Given the description of an element on the screen output the (x, y) to click on. 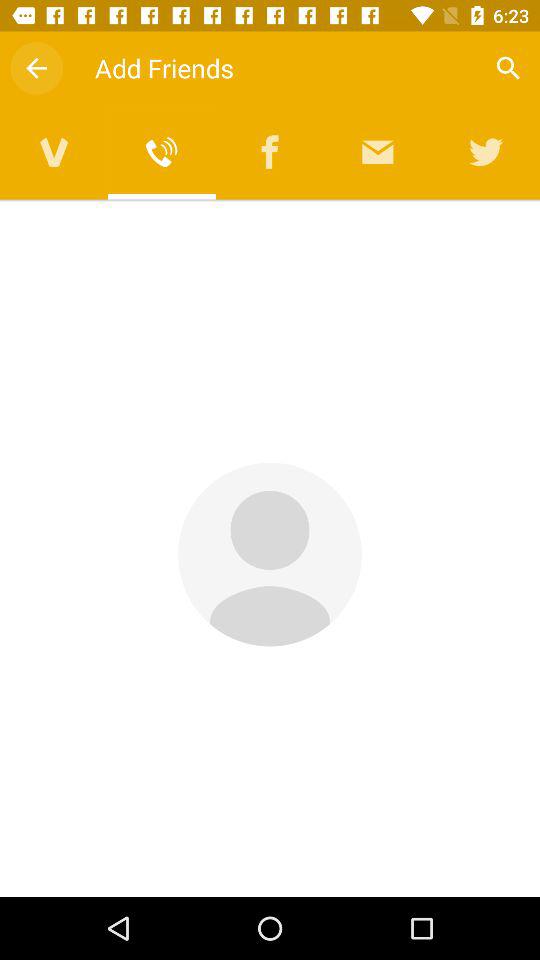
add facebook friends (270, 152)
